Given the description of an element on the screen output the (x, y) to click on. 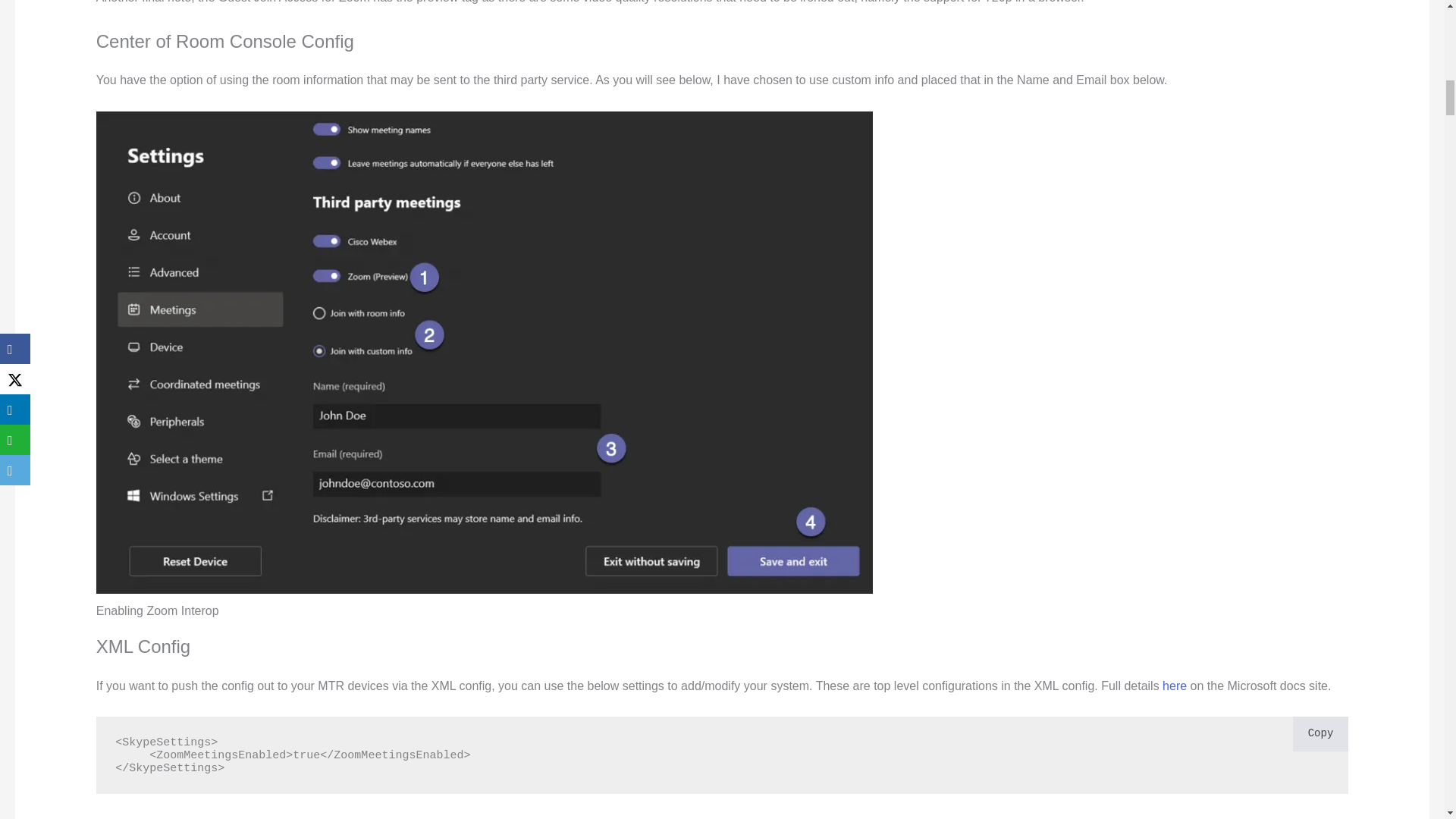
here (1175, 685)
